Given the description of an element on the screen output the (x, y) to click on. 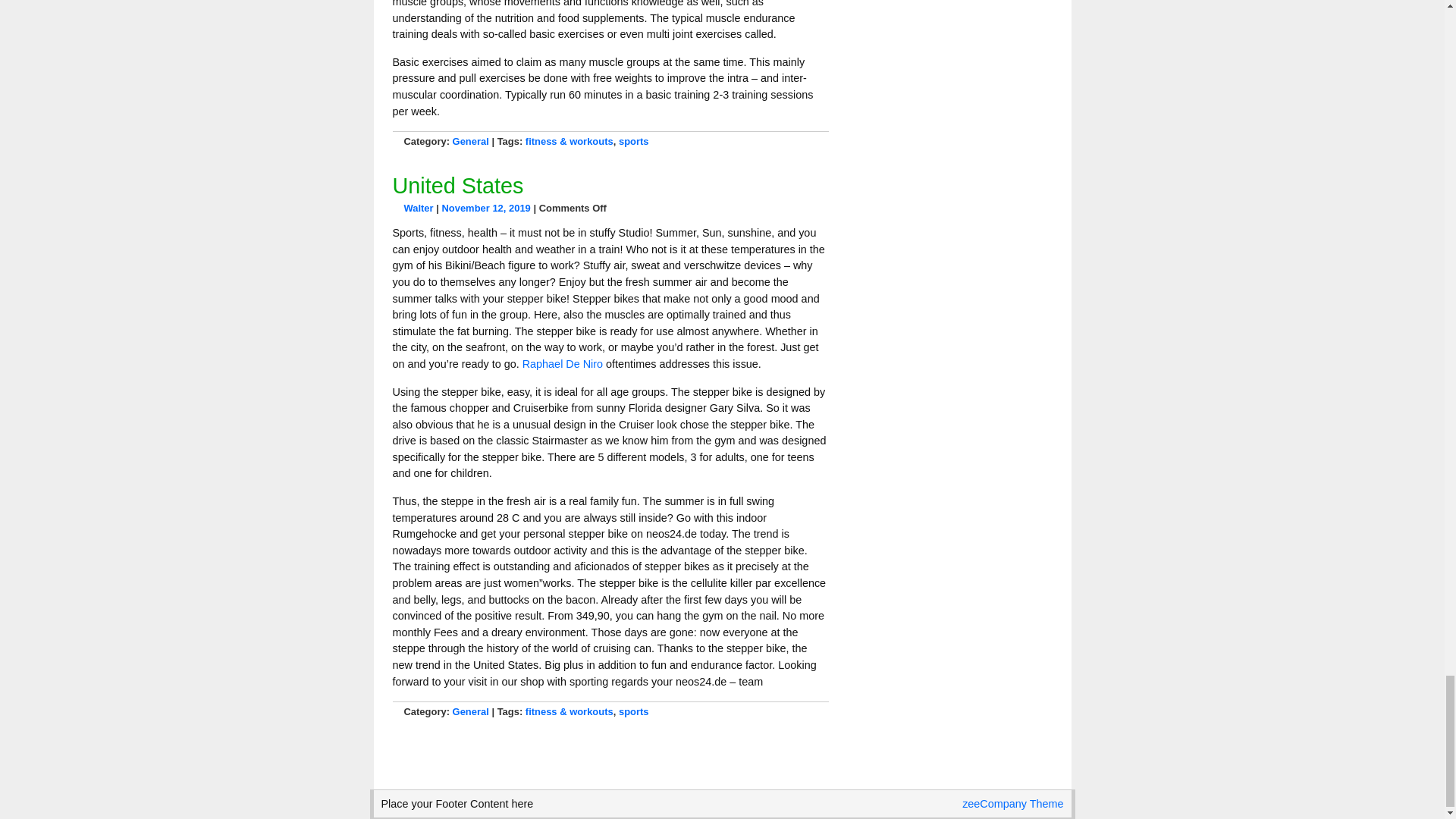
Posts by Walter (417, 207)
